Given the description of an element on the screen output the (x, y) to click on. 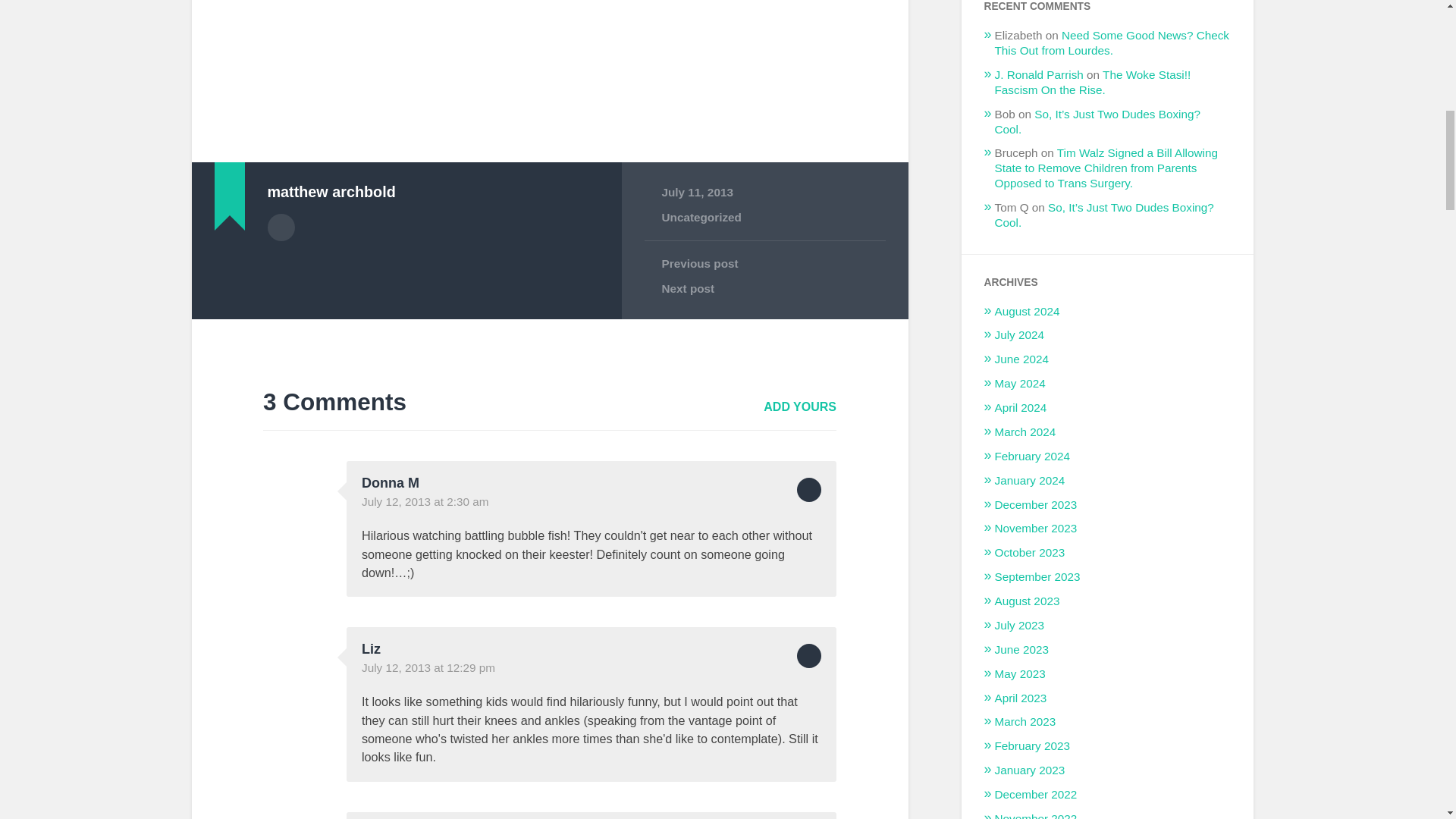
Author archive (280, 226)
Reply (808, 655)
J. Ronald Parrish (1038, 74)
July 12, 2013 at 12:29 pm (428, 667)
Previous post (765, 263)
Next post (765, 288)
Reply (808, 489)
ADD YOURS (798, 406)
Need Some Good News? Check This Out from Lourdes. (1112, 42)
July 12, 2013 at 2:30 am (425, 501)
